Given the description of an element on the screen output the (x, y) to click on. 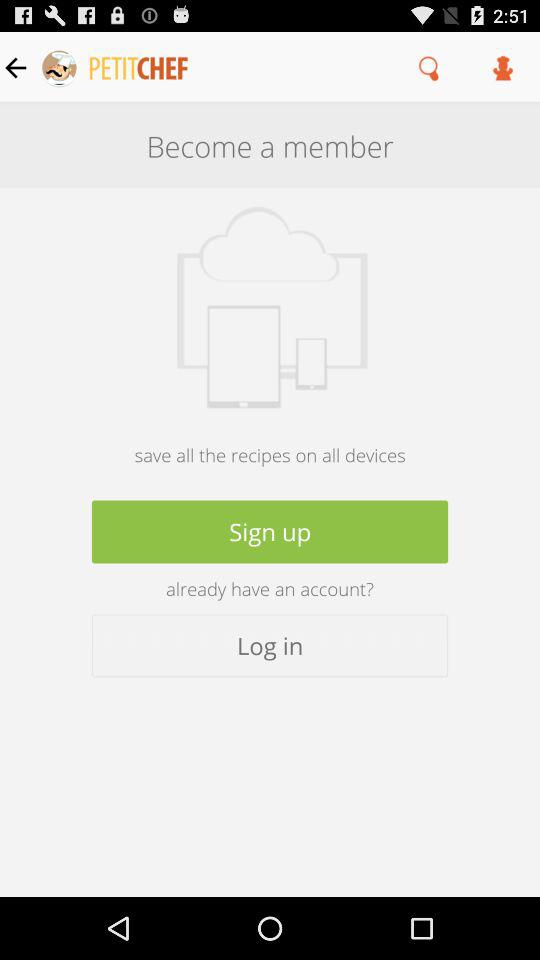
select the button at the bottom (269, 645)
